Given the description of an element on the screen output the (x, y) to click on. 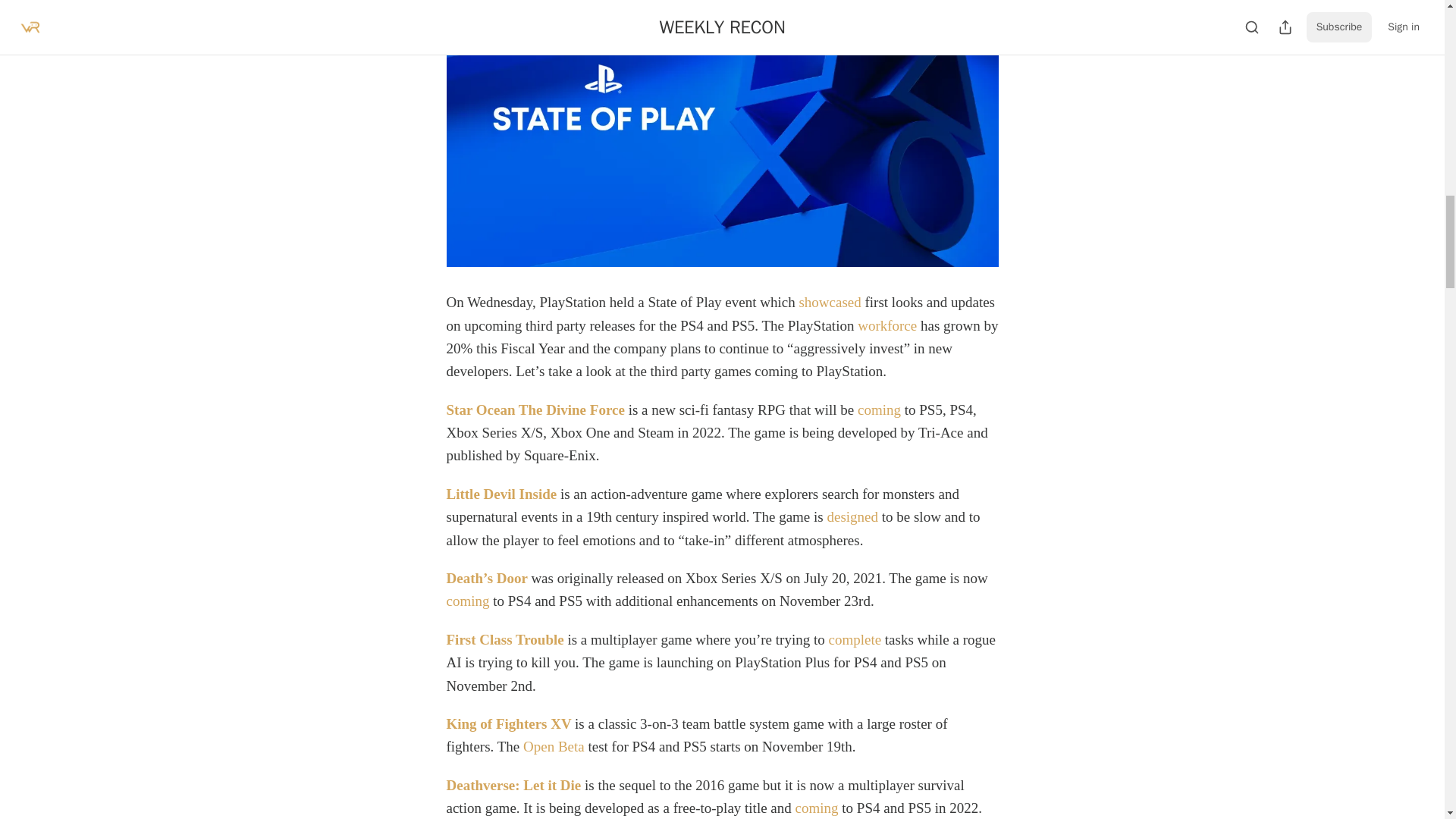
designed (852, 516)
showcased (828, 302)
workforce (887, 325)
coming (879, 409)
Little Devil Inside (500, 494)
Star Ocean The Divine Force (534, 409)
